Given the description of an element on the screen output the (x, y) to click on. 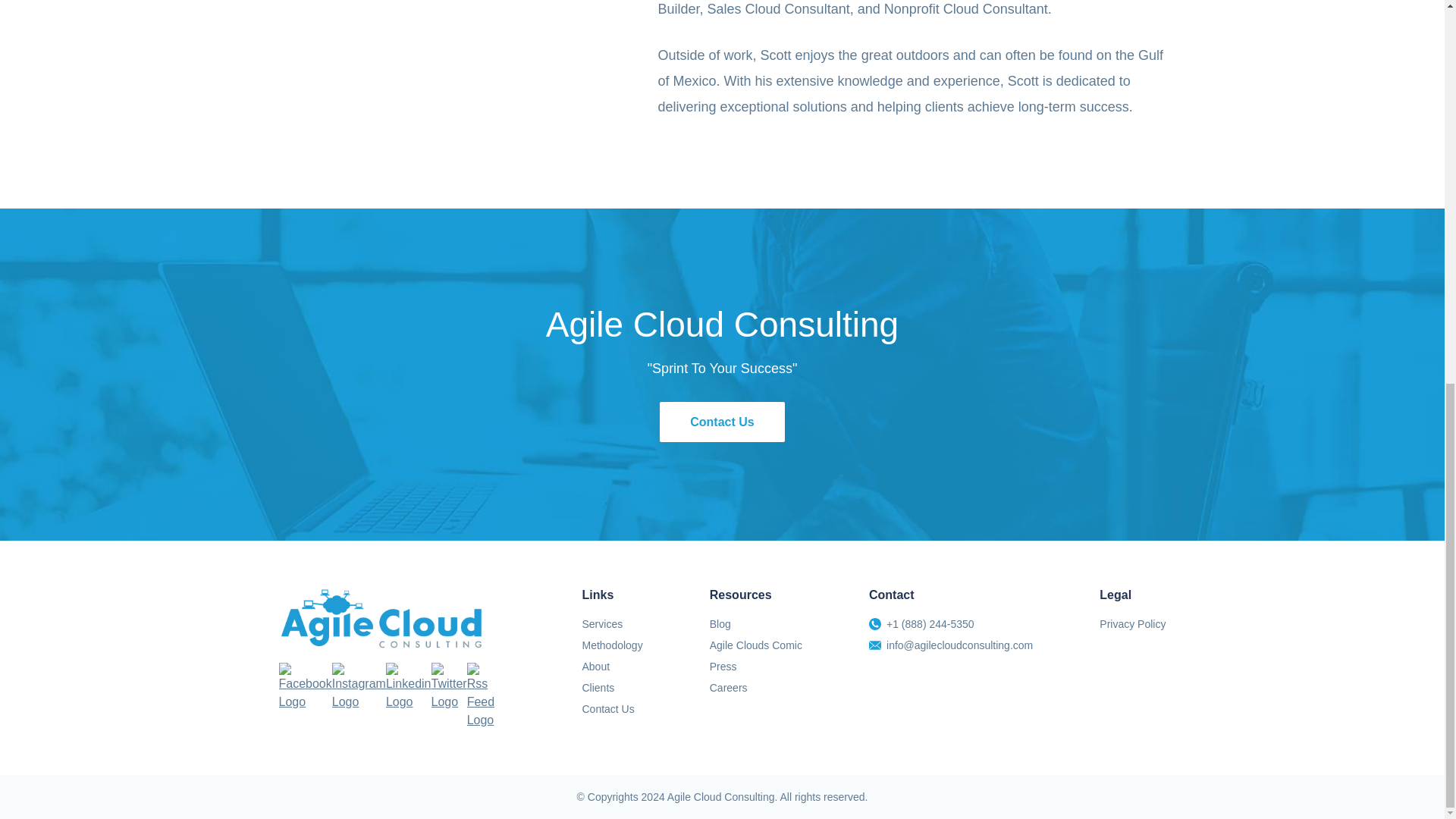
Methodology (611, 645)
Press (756, 666)
Careers (756, 687)
Agile Clouds Comic (756, 645)
Contact Us (611, 708)
Contact Us (721, 422)
facebook (305, 686)
About (611, 666)
Clients (611, 687)
Blog (756, 623)
Services (611, 623)
Instagram (358, 686)
linkedin (407, 686)
